Given the description of an element on the screen output the (x, y) to click on. 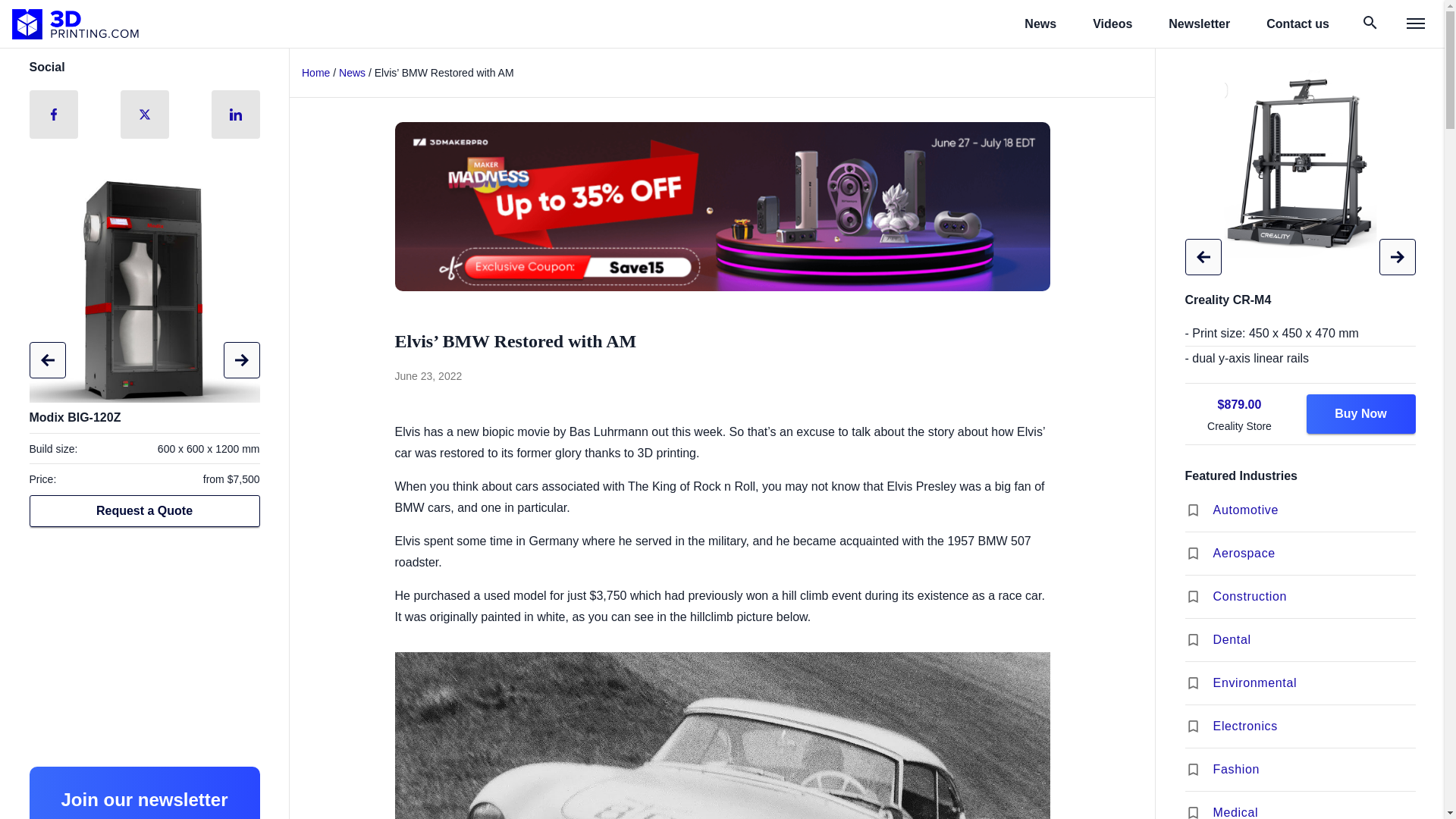
News (352, 72)
Contact us (1297, 23)
Advertisement (144, 647)
Newsletter (1198, 23)
Request a Quote (144, 511)
Videos (1112, 23)
News (1040, 23)
3D Printing (75, 24)
Home (315, 72)
